Given the description of an element on the screen output the (x, y) to click on. 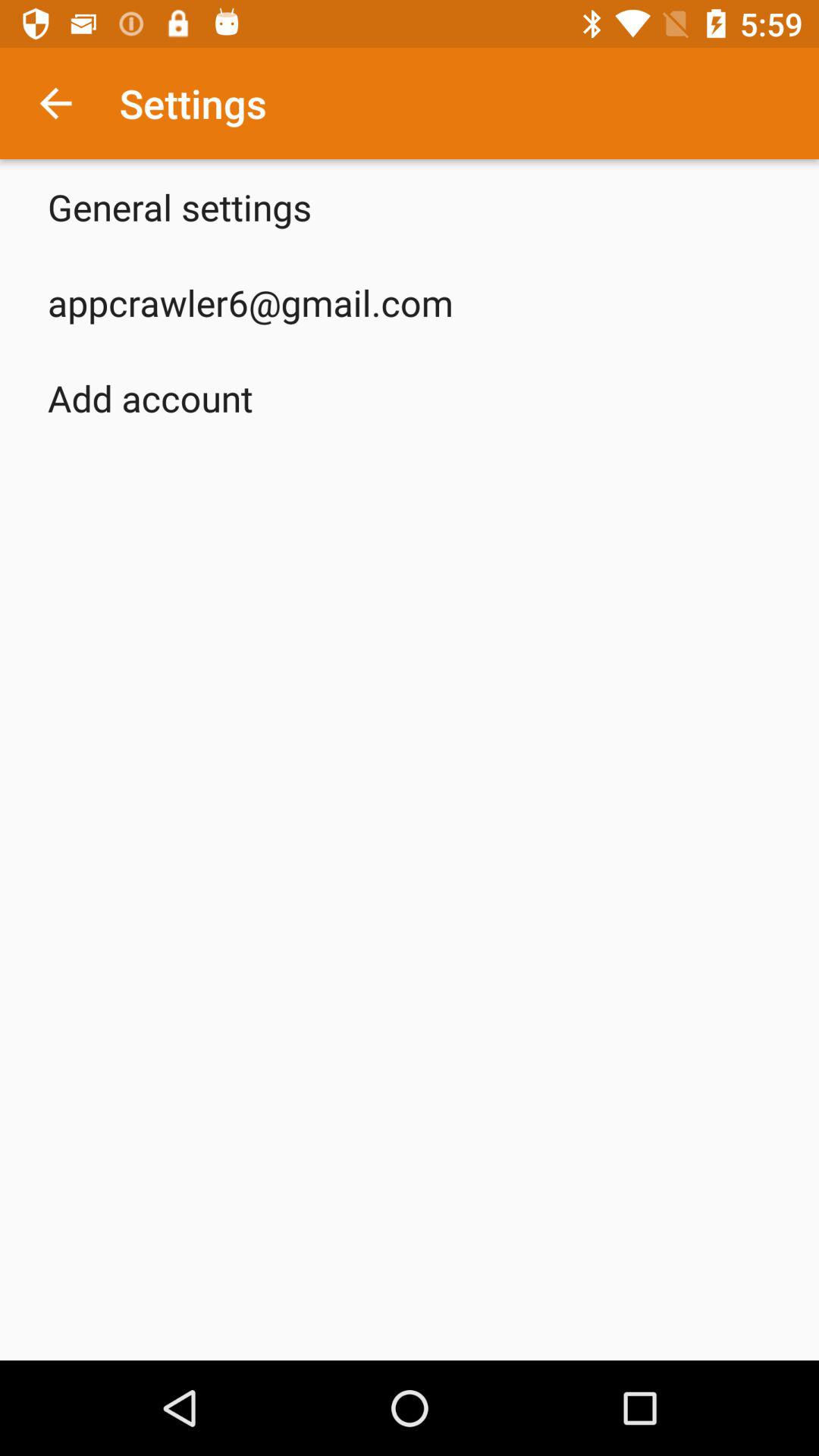
press app below general settings (250, 302)
